Given the description of an element on the screen output the (x, y) to click on. 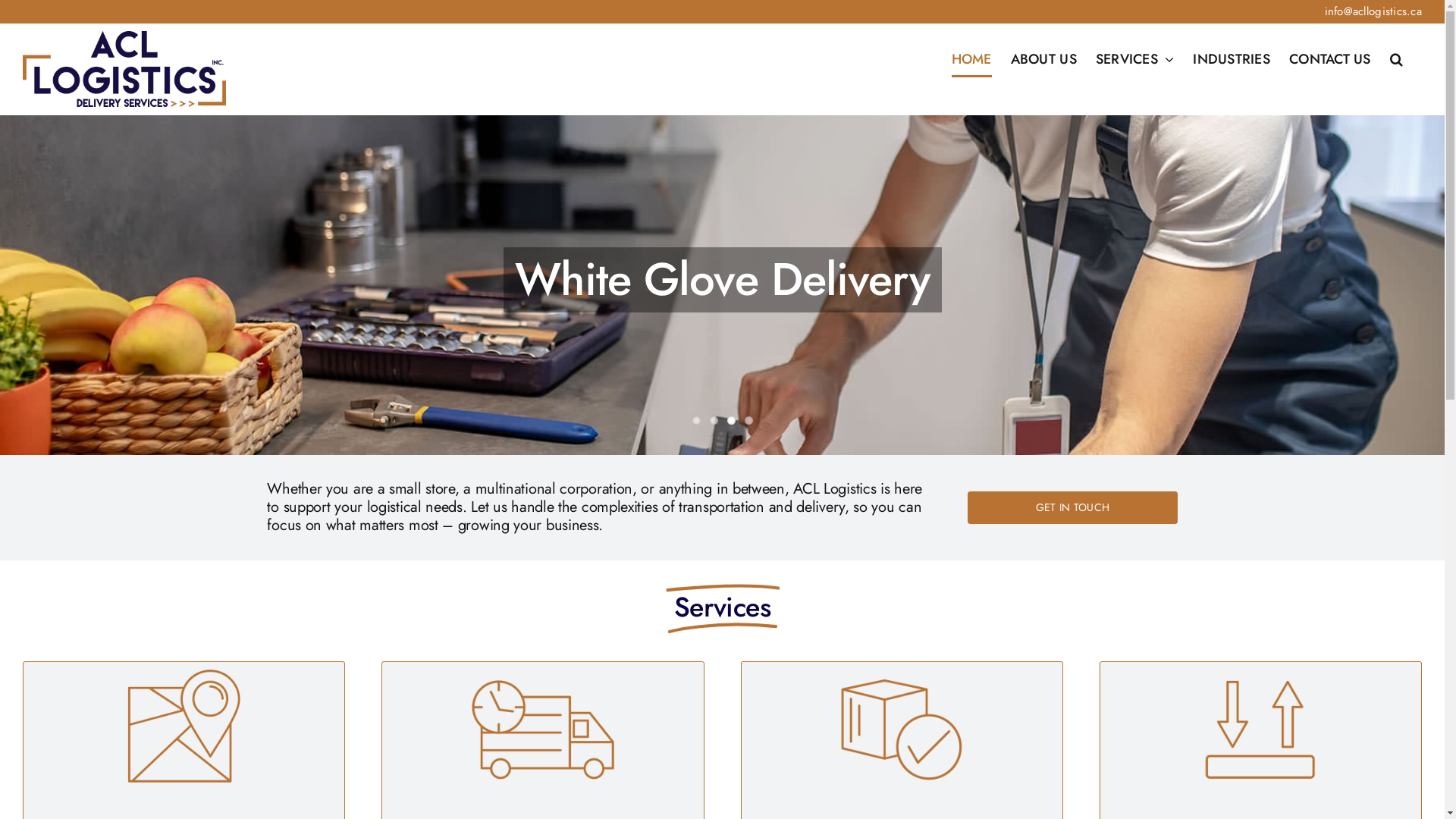
3 Element type: text (730, 420)
2 Element type: text (713, 420)
Search Element type: hover (1396, 58)
1 Element type: text (695, 420)
HOME Element type: text (971, 58)
SERVICES Element type: text (1134, 58)
4 Element type: text (748, 420)
INDUSTRIES Element type: text (1231, 58)
CONTACT US Element type: text (1330, 58)
info@acllogistics.ca Element type: text (1372, 11)
ABOUT US Element type: text (1043, 58)
GET IN TOUCH Element type: text (1071, 507)
